Given the description of an element on the screen output the (x, y) to click on. 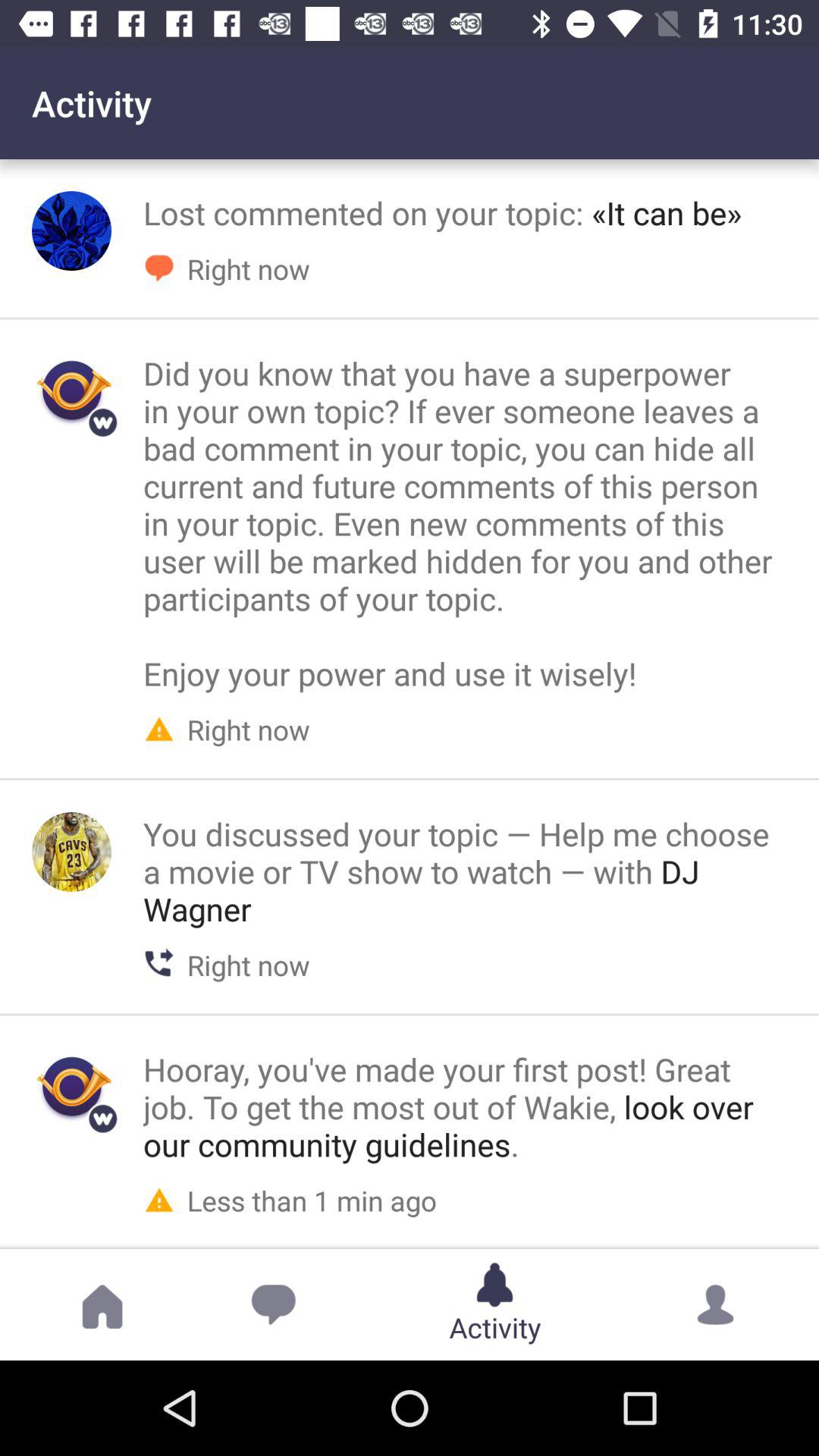
display guidelines (71, 1087)
